Given the description of an element on the screen output the (x, y) to click on. 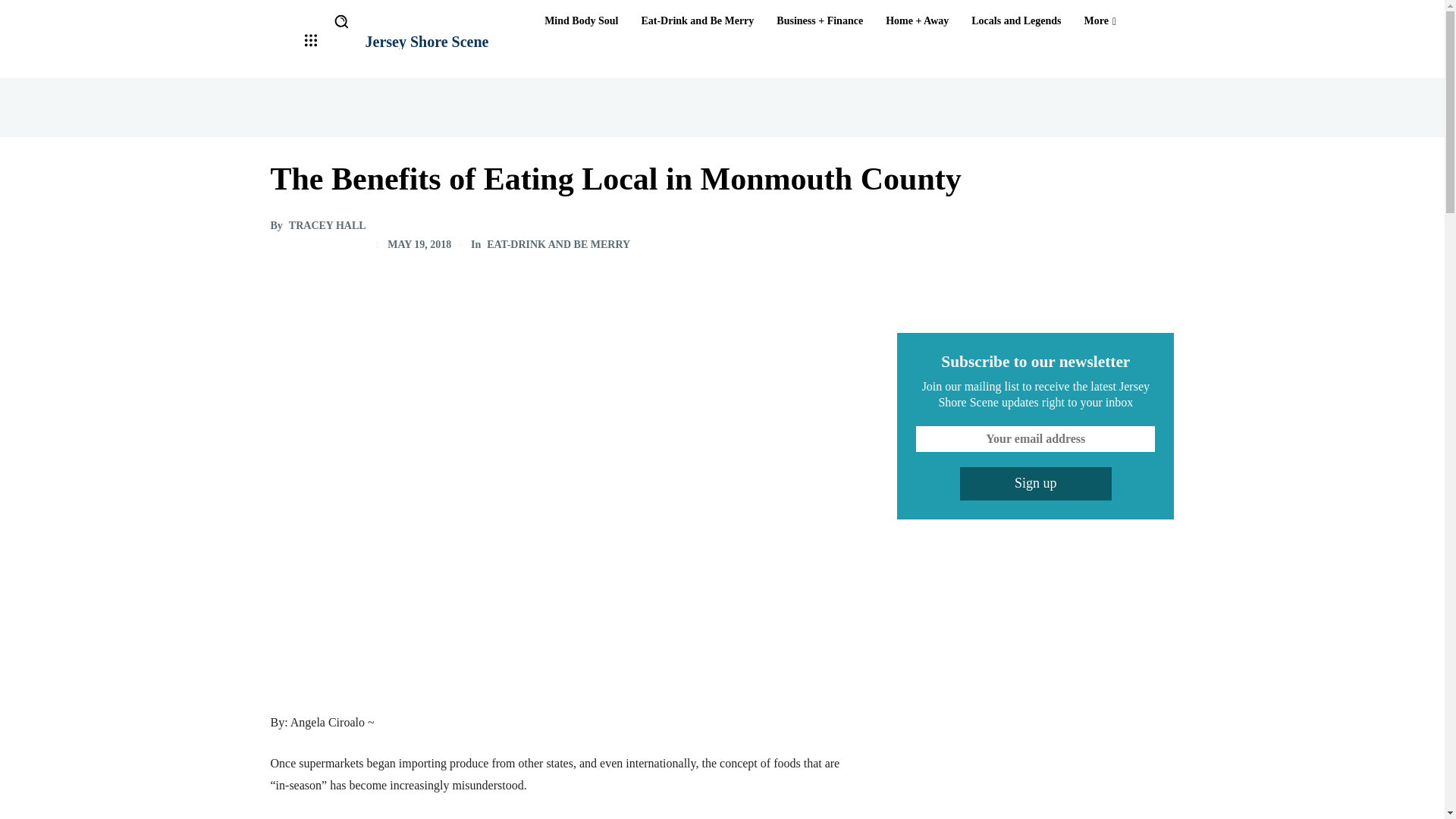
Sign up (1035, 483)
Mind Body Soul (581, 20)
More (1100, 20)
Eat-Drink and Be Merry (697, 20)
Jersey Shore Scene (427, 41)
Locals and Legends (1015, 20)
